Given the description of an element on the screen output the (x, y) to click on. 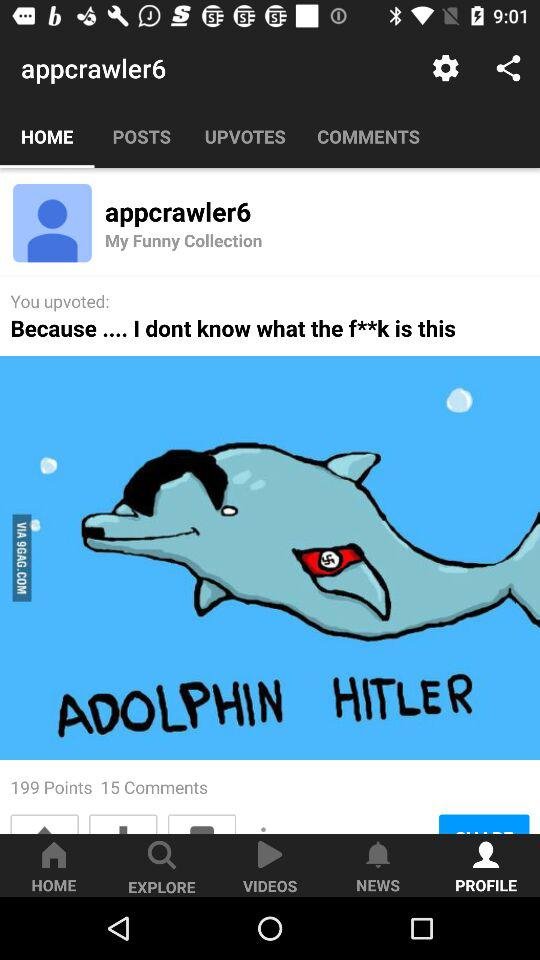
click the button on the bottom right corner of the web page (486, 865)
click on share icon right side of settings icon on the top of the page (508, 68)
click on the profile icon (51, 223)
click on icon above explore (162, 855)
